Given the description of an element on the screen output the (x, y) to click on. 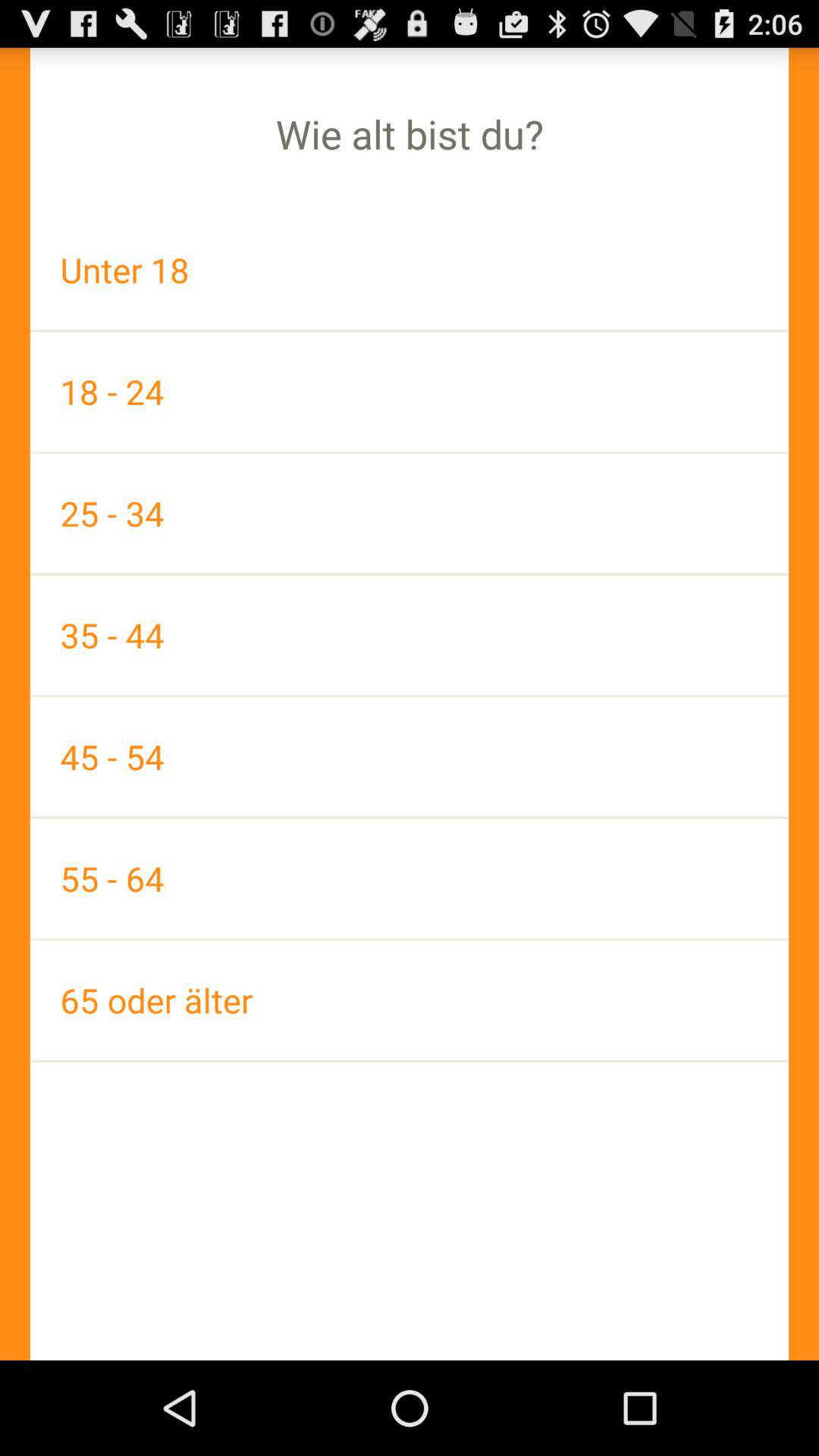
launch the app above 18 - 24 app (409, 269)
